Given the description of an element on the screen output the (x, y) to click on. 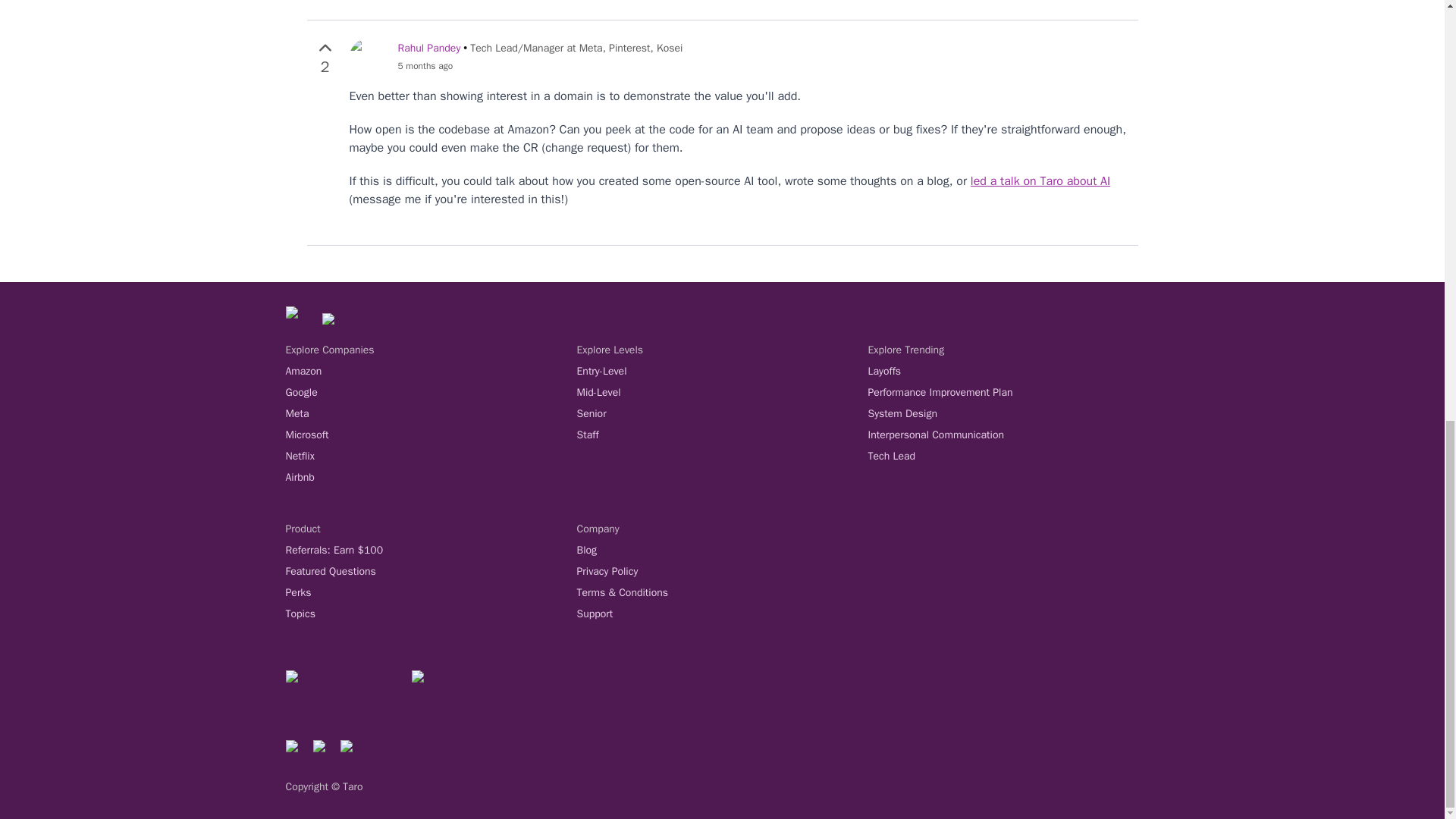
Google (430, 392)
Amazon (430, 371)
Topics (430, 613)
Rahul Pandey (428, 47)
Senior (721, 413)
Mid-Level (721, 392)
Tech Lead (1012, 456)
Perks (430, 592)
Meta (430, 413)
Layoffs (1012, 371)
